Given the description of an element on the screen output the (x, y) to click on. 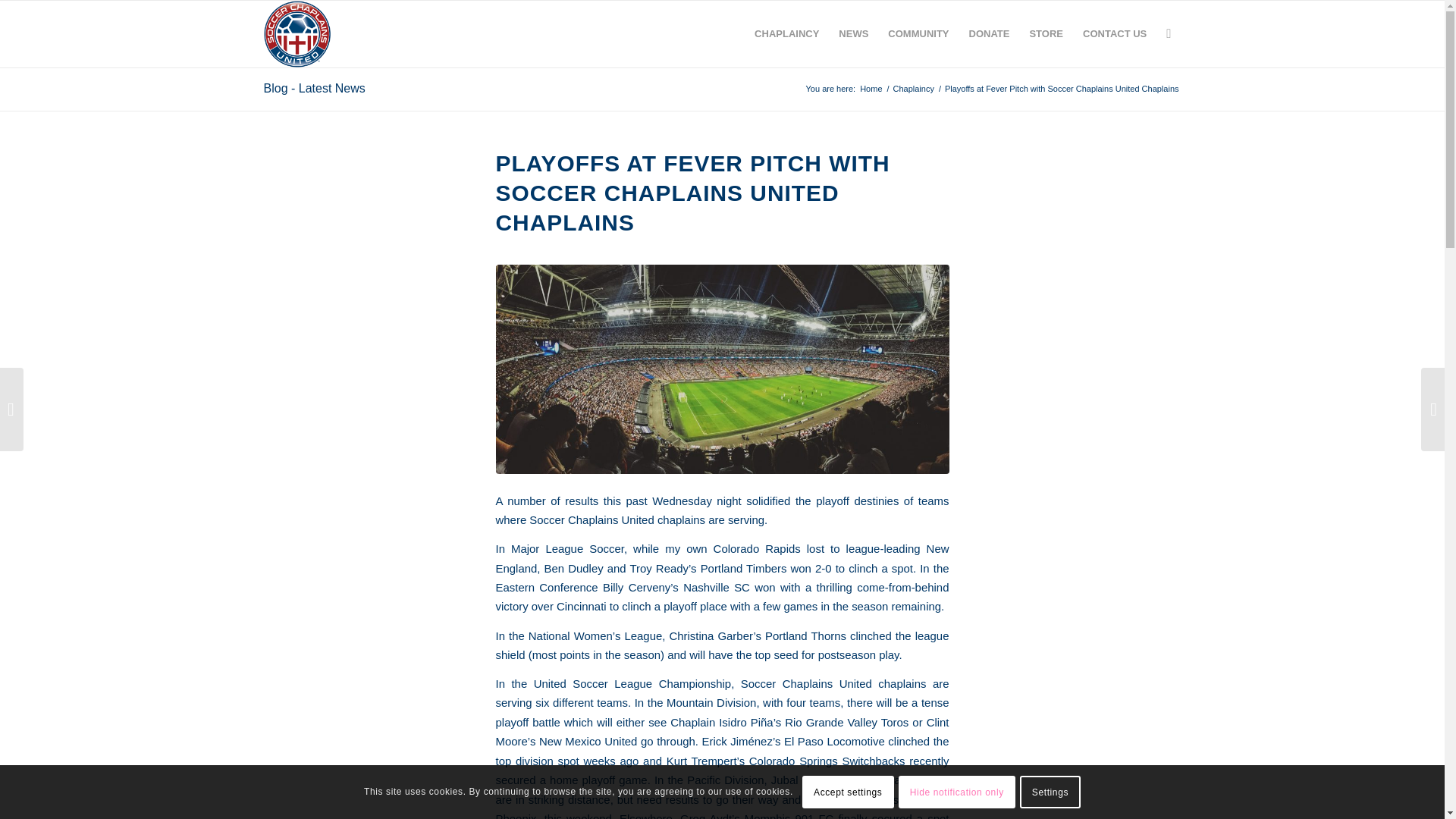
DONATE (989, 33)
Chaplaincy (786, 33)
CHAPLAINCY (786, 33)
Donate (989, 33)
Ben Dudley (574, 567)
my own (685, 548)
Chaplaincy (913, 89)
Blog - Latest News (314, 88)
Community Projects (917, 33)
CONTACT US (1114, 33)
Permanent Link: Blog - Latest News (314, 88)
COMMUNITY (917, 33)
Photo by Mitch Rosen (722, 369)
Contact Us (1114, 33)
Home (870, 89)
